Given the description of an element on the screen output the (x, y) to click on. 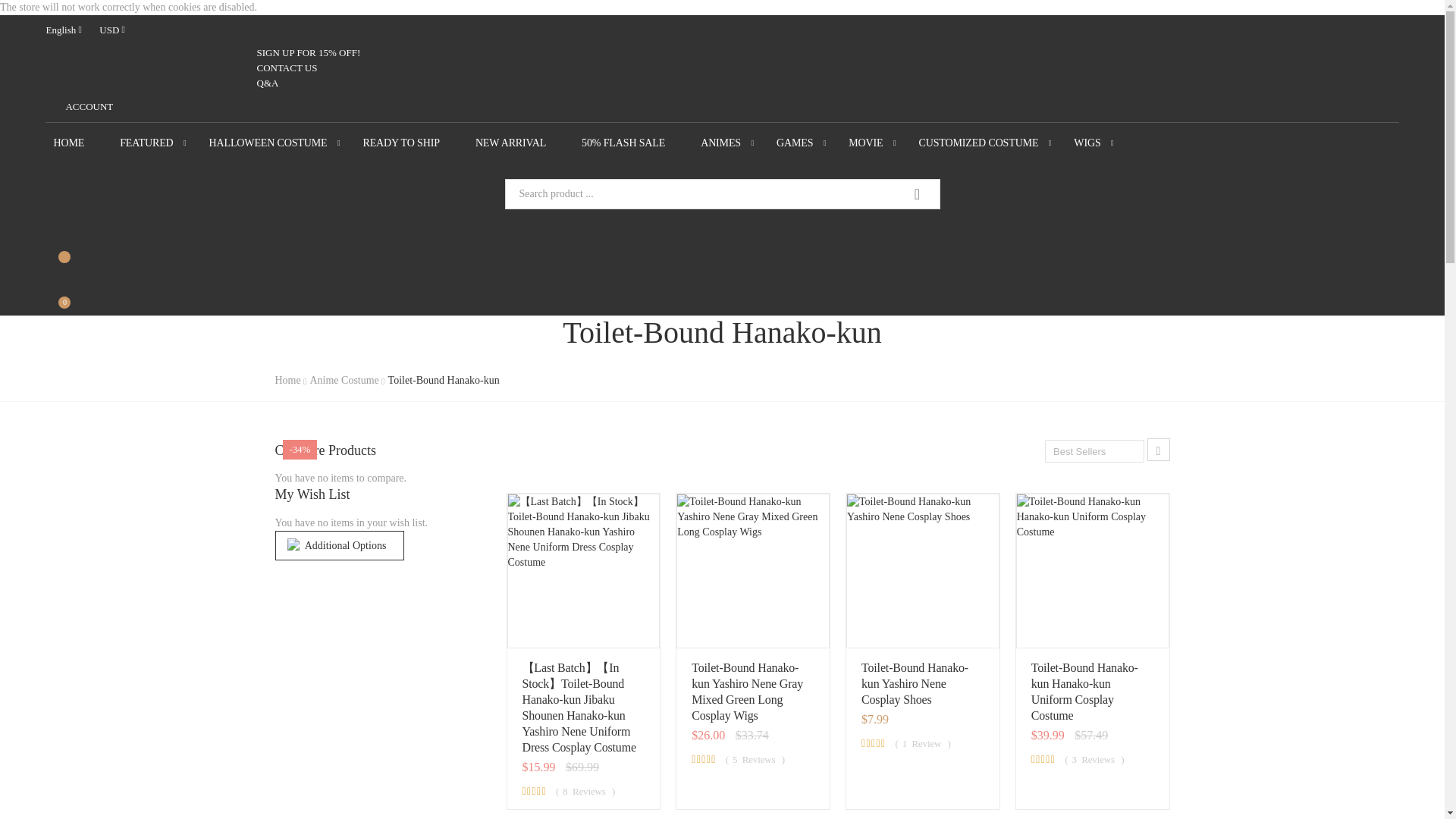
Set Ascending Direction (1158, 449)
Search (917, 194)
HOME (78, 142)
Account (79, 106)
READY TO SHIP (411, 142)
ACCOUNT (79, 106)
HALLOWEEN COSTUME (278, 142)
ANIMES (730, 142)
FEATURED (156, 142)
Go to Home Page (288, 379)
NEW ARRIVAL (520, 142)
CONTACT US (276, 67)
